Given the description of an element on the screen output the (x, y) to click on. 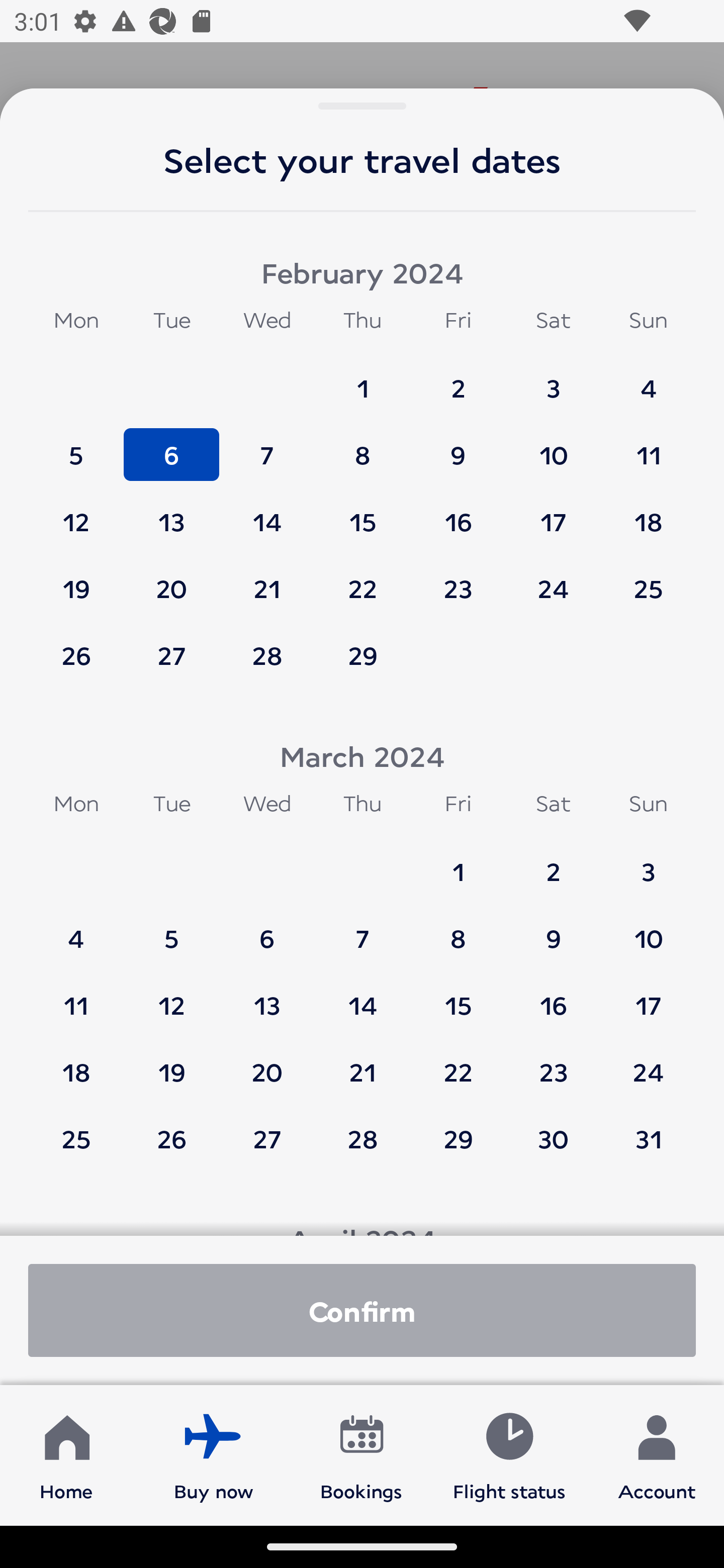
1 (362, 379)
2 (458, 379)
3 (553, 379)
4 (647, 379)
5 (75, 445)
6 (171, 445)
7 (266, 445)
8 (362, 445)
9 (458, 445)
10 (553, 445)
11 (647, 445)
12 (75, 512)
13 (171, 512)
14 (266, 512)
15 (362, 512)
16 (458, 512)
17 (553, 512)
18 (647, 512)
19 (75, 579)
20 (171, 579)
21 (266, 579)
22 (362, 579)
23 (458, 579)
24 (553, 579)
25 (647, 579)
26 (75, 655)
27 (171, 655)
28 (266, 655)
29 (362, 655)
1 (458, 862)
2 (553, 862)
3 (647, 862)
4 (75, 928)
5 (171, 928)
6 (266, 928)
7 (362, 928)
8 (458, 928)
9 (553, 928)
10 (647, 928)
11 (75, 996)
12 (171, 996)
13 (266, 996)
14 (362, 996)
15 (458, 996)
16 (553, 996)
17 (647, 996)
18 (75, 1063)
19 (171, 1063)
20 (266, 1063)
21 (362, 1063)
22 (458, 1063)
23 (553, 1063)
24 (647, 1063)
25 (75, 1138)
26 (171, 1138)
27 (266, 1138)
28 (362, 1138)
29 (458, 1138)
30 (553, 1138)
31 (647, 1138)
Confirm (361, 1309)
Home (66, 1454)
Bookings (361, 1454)
Flight status (509, 1454)
Account (657, 1454)
